Given the description of an element on the screen output the (x, y) to click on. 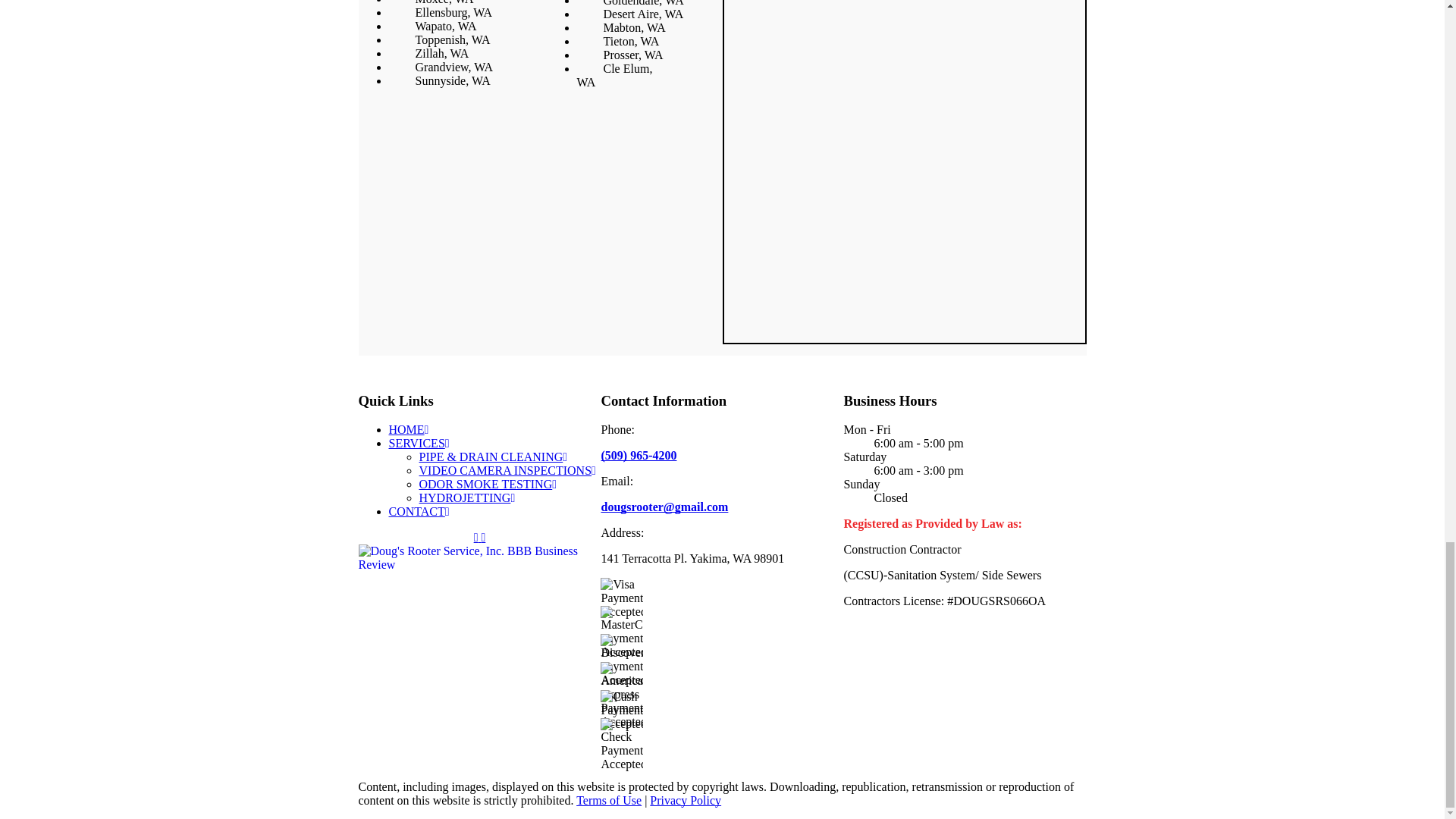
Privacy Policy (684, 799)
CONTACT (418, 511)
SERVICES (418, 442)
VIDEO CAMERA INSPECTIONS (507, 470)
ODOR SMOKE TESTING (487, 483)
Terms of Use (609, 799)
HOME (408, 429)
HYDROJETTING (467, 497)
